Given the description of an element on the screen output the (x, y) to click on. 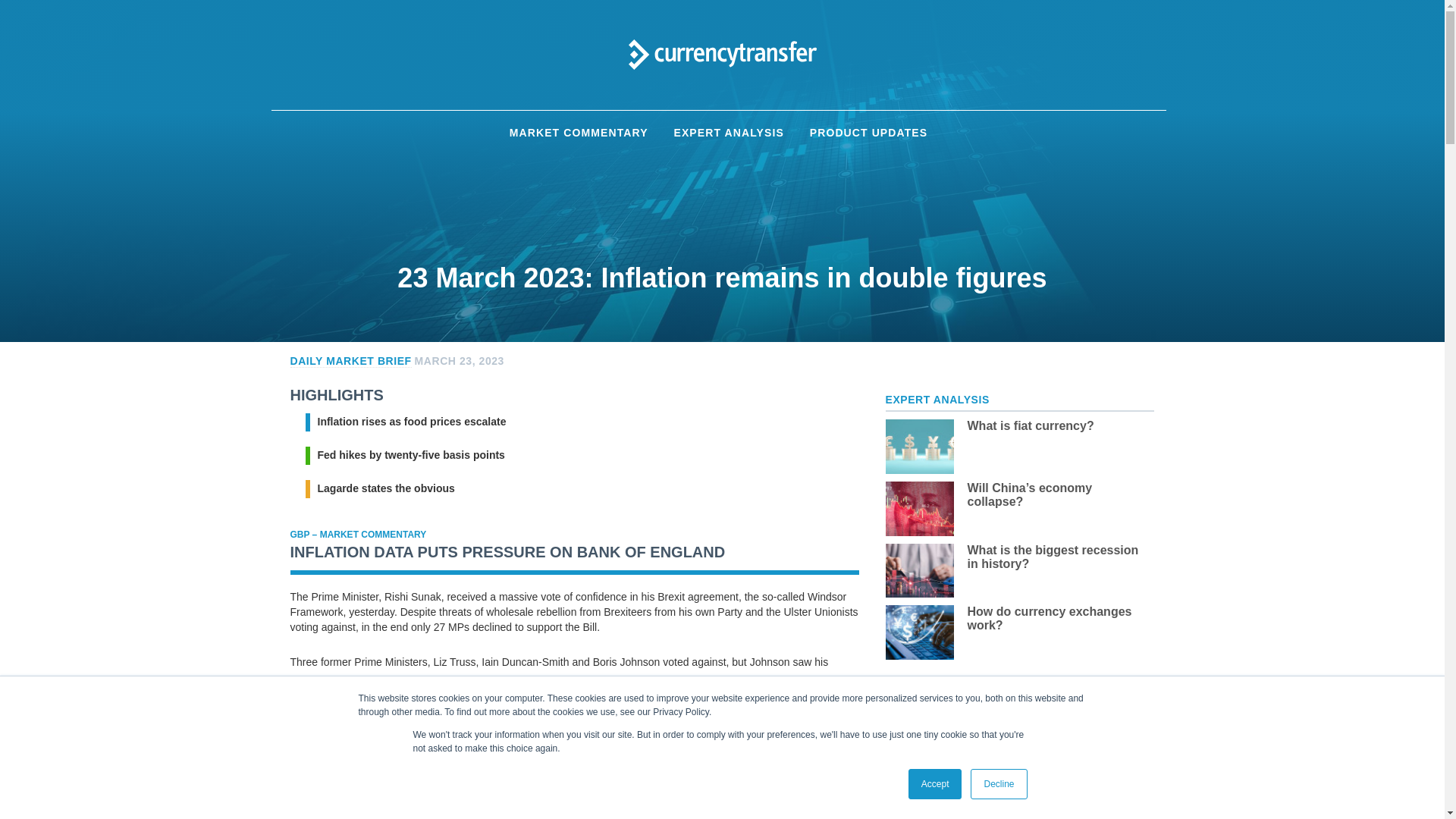
What is fiat currency? (1057, 426)
Accept (935, 784)
EXPERT ANALYSIS (728, 133)
Decline (998, 784)
How do currency exchanges work? (1057, 618)
MARKET COMMENTARY (578, 133)
PRODUCT UPDATES (868, 133)
DAILY MARKET BRIEF (349, 360)
What is the biggest recession in history? (1057, 556)
